Given the description of an element on the screen output the (x, y) to click on. 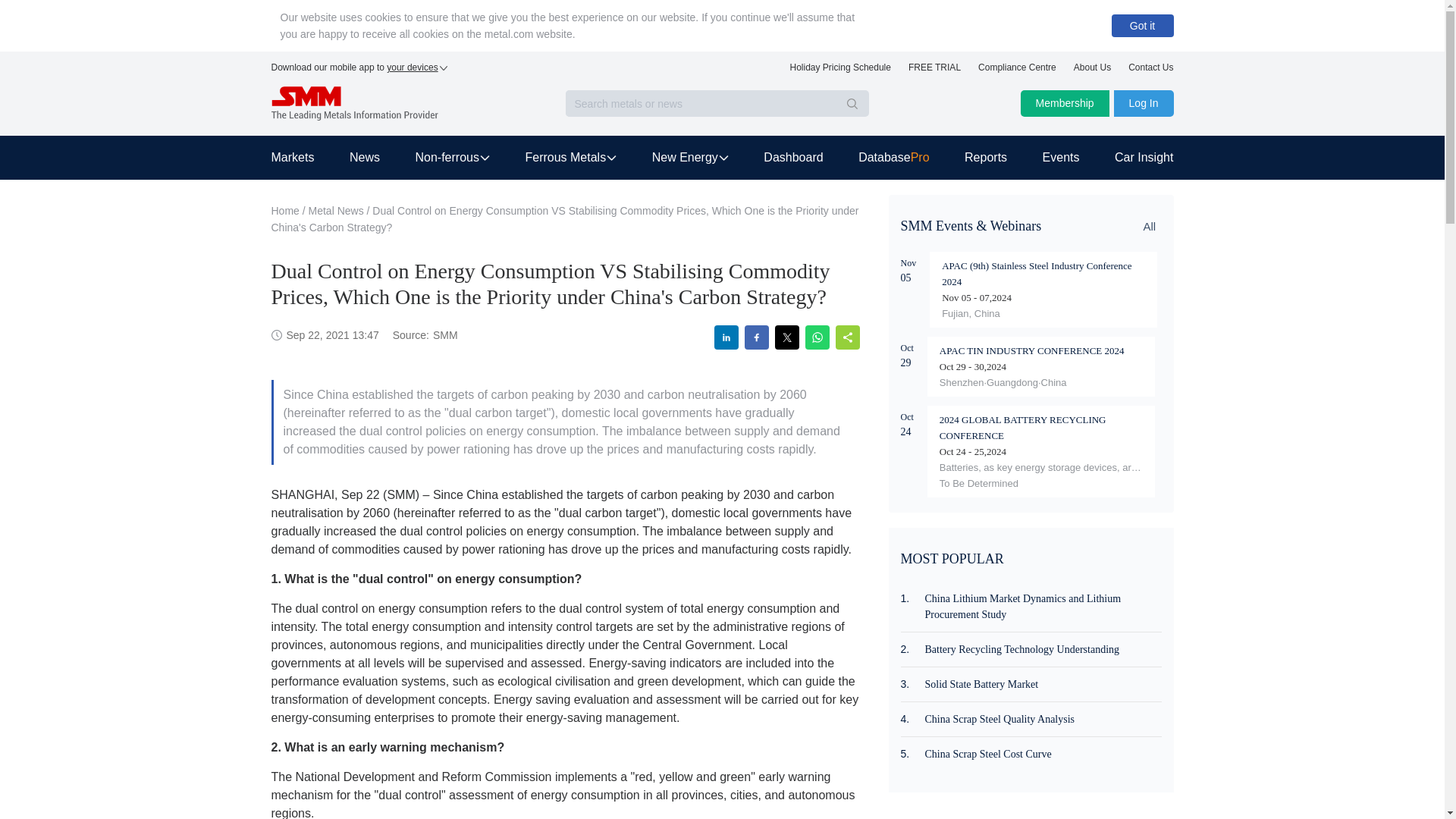
Holiday Pricing Schedule (840, 71)
Membership (1064, 103)
About Us (1092, 71)
Dashboard (792, 157)
Contact Us (1150, 71)
Markets (300, 157)
Compliance Centre (1017, 71)
Log In (1143, 103)
Metal News (336, 210)
FREE TRIAL (934, 71)
